Given the description of an element on the screen output the (x, y) to click on. 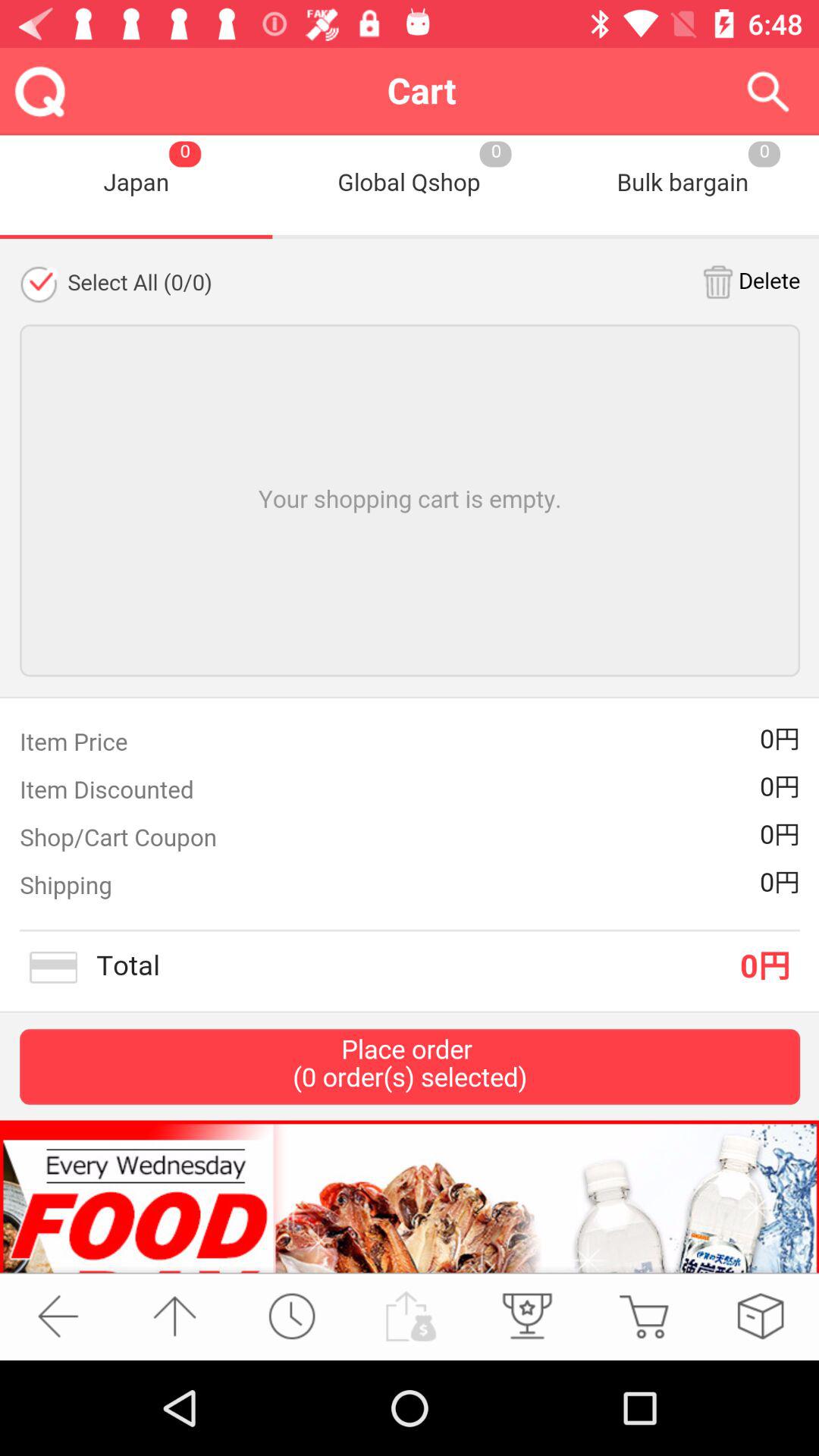
shopping cart (409, 703)
